Given the description of an element on the screen output the (x, y) to click on. 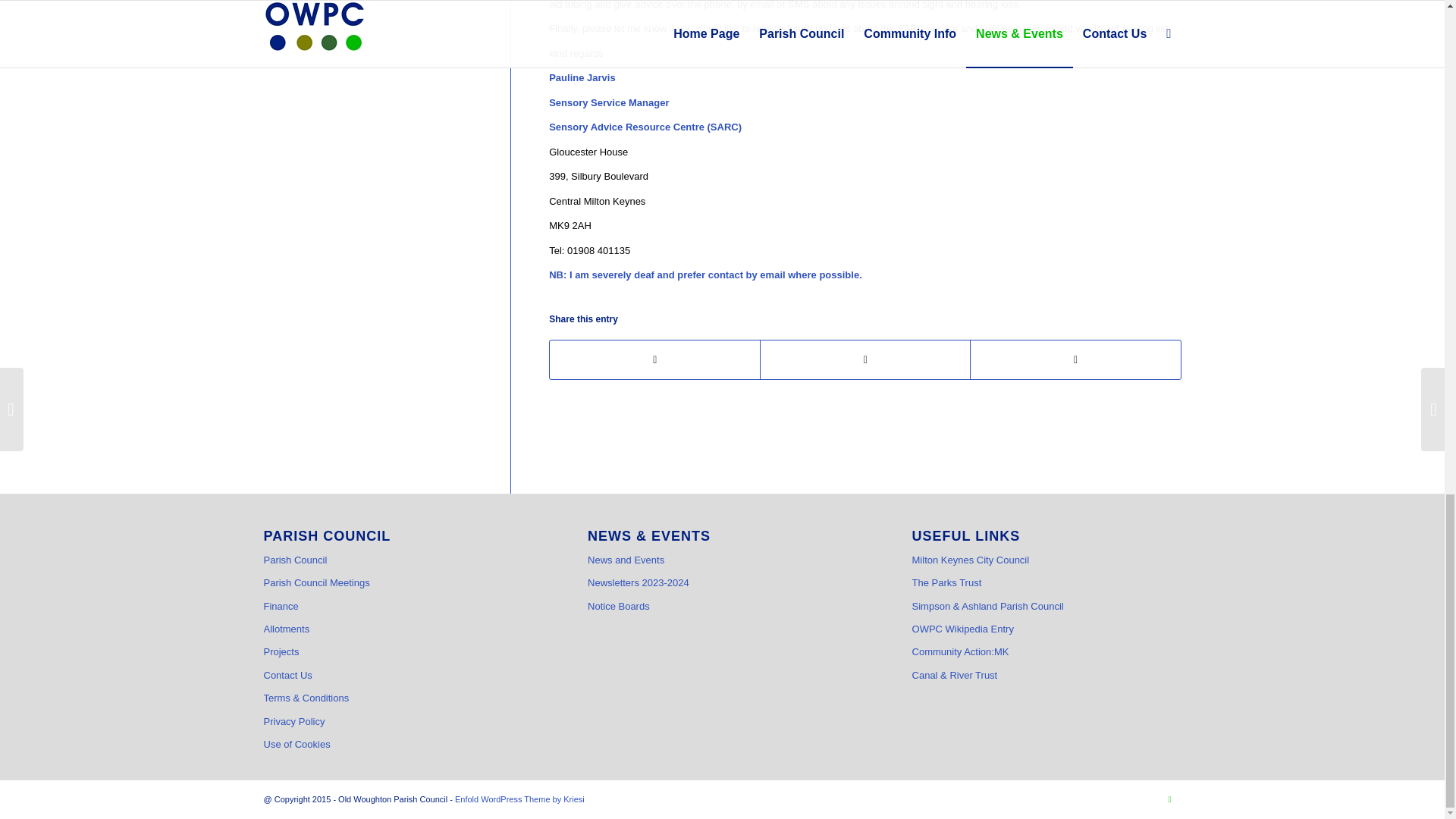
Facebook (1169, 798)
